Given the description of an element on the screen output the (x, y) to click on. 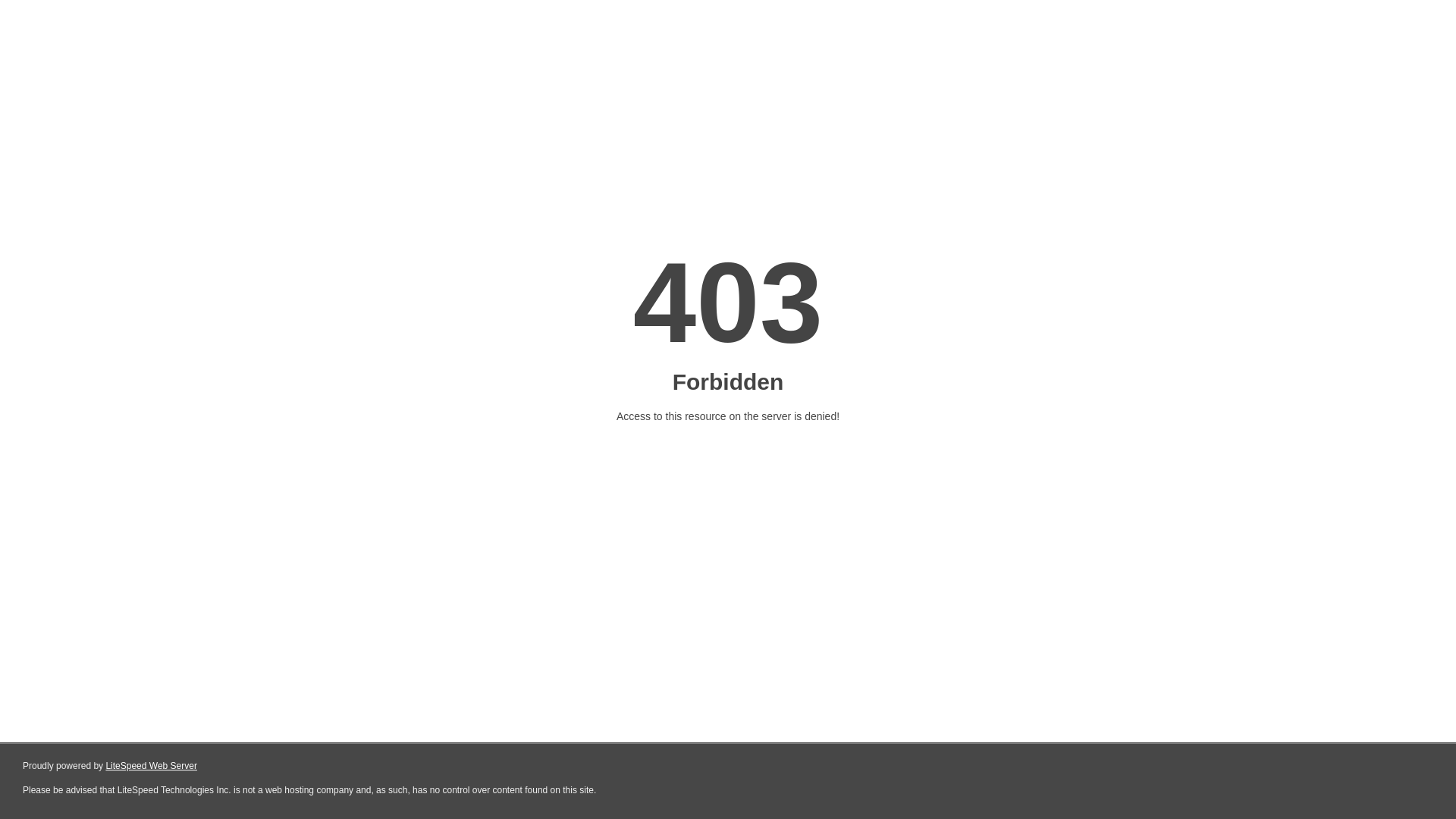
LiteSpeed Web Server Element type: text (151, 765)
